Given the description of an element on the screen output the (x, y) to click on. 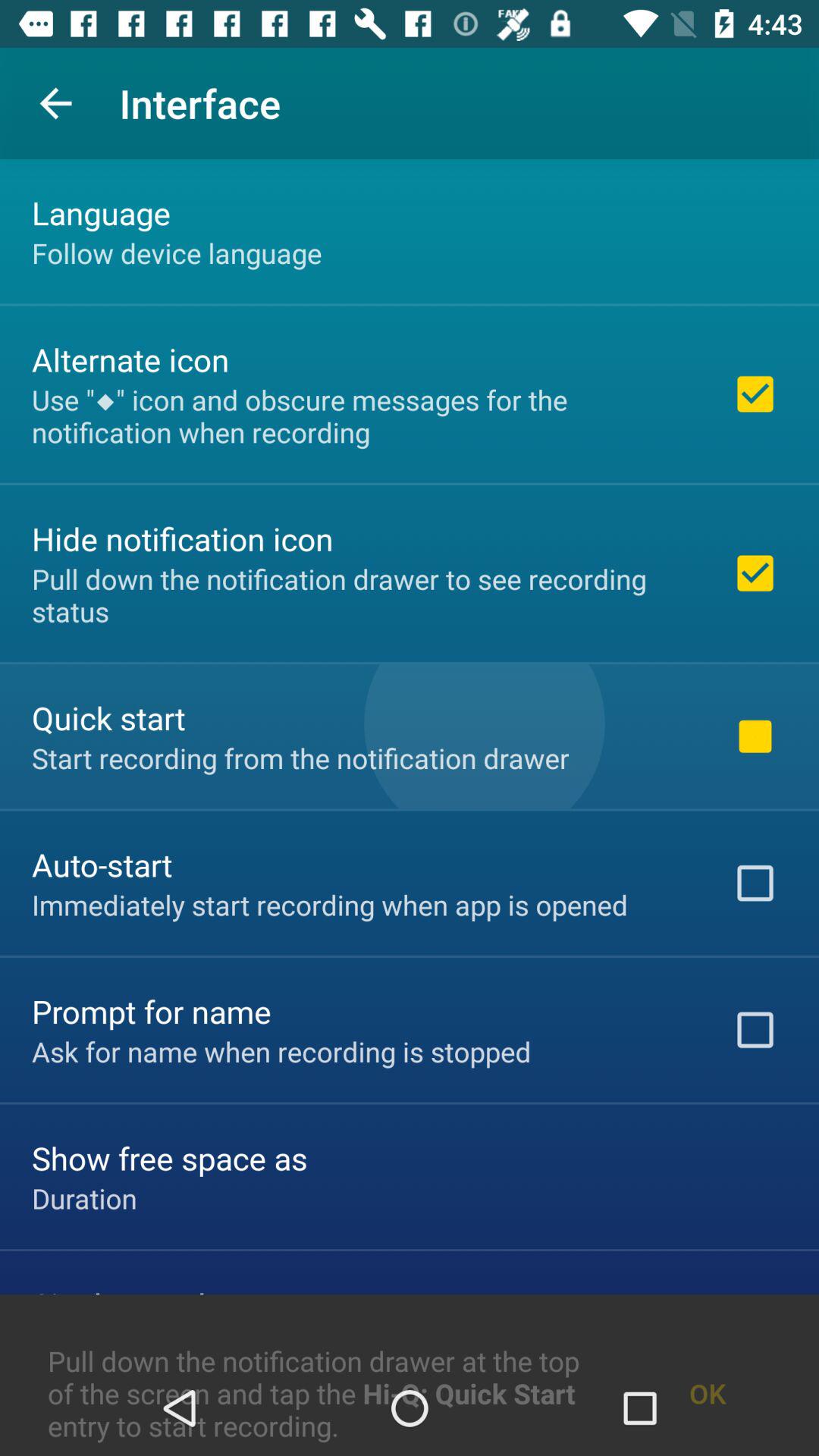
tap item above the immediately start recording icon (101, 864)
